Given the description of an element on the screen output the (x, y) to click on. 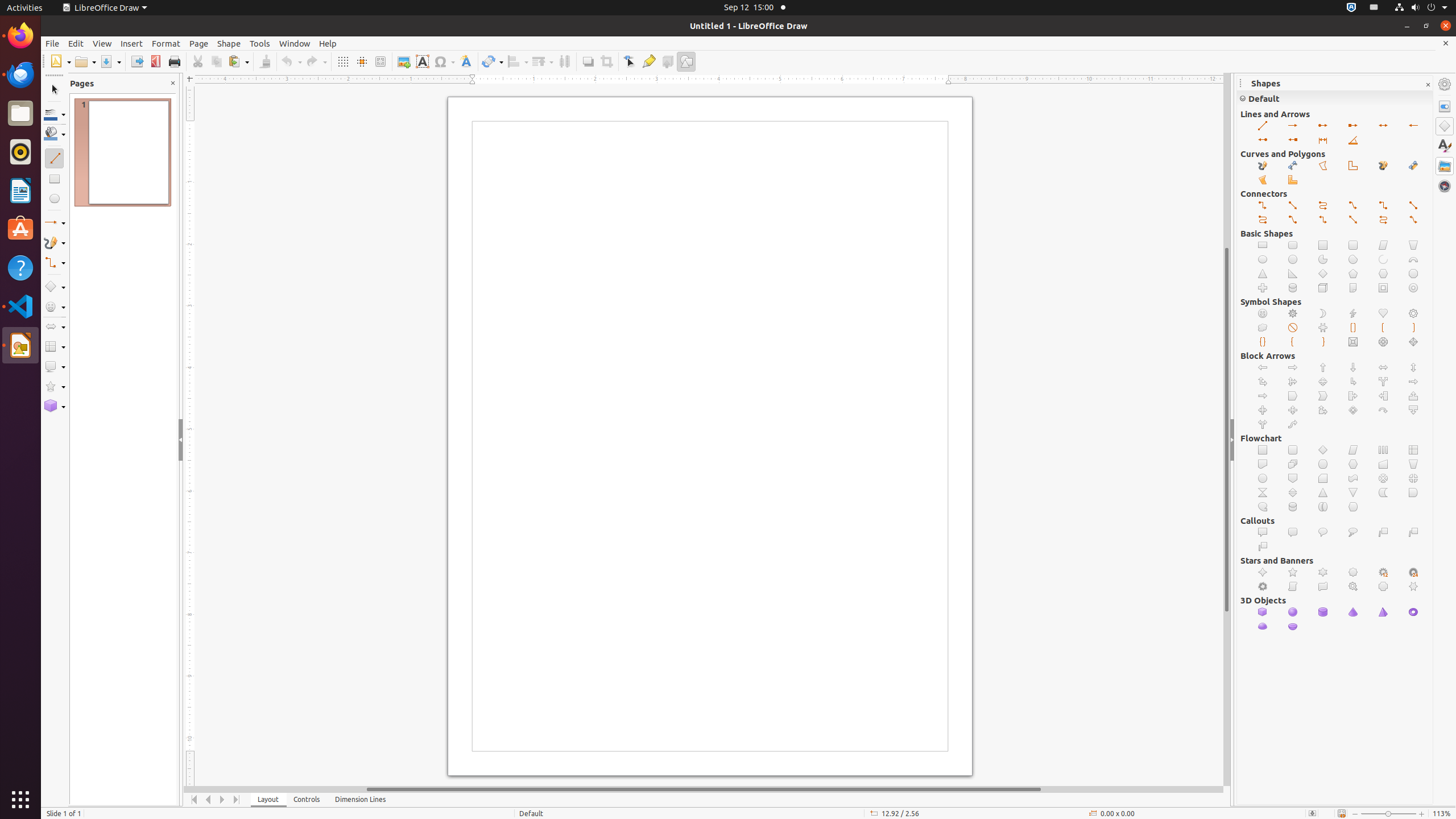
Transformations Element type: push-button (492, 61)
Left Arrow Callout Element type: list-item (1383, 396)
8-Point Star Element type: list-item (1353, 572)
Left Brace Element type: list-item (1292, 341)
Down Arrow Callout Element type: list-item (1413, 410)
